Given the description of an element on the screen output the (x, y) to click on. 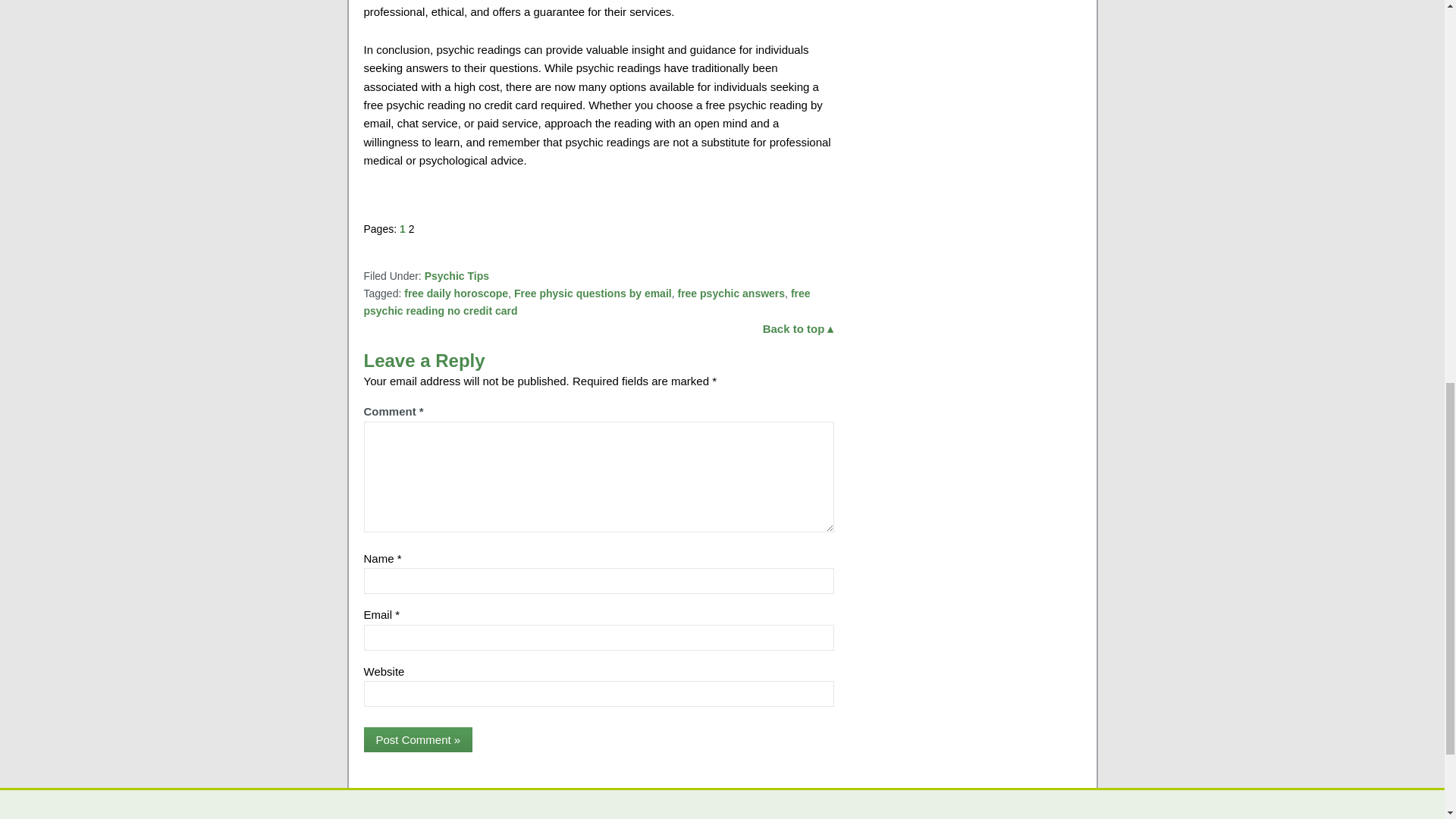
free psychic reading no credit card (587, 301)
Psychic Tips (457, 275)
free daily horoscope (456, 293)
Free physic questions by email (592, 293)
free psychic answers (730, 293)
